Given the description of an element on the screen output the (x, y) to click on. 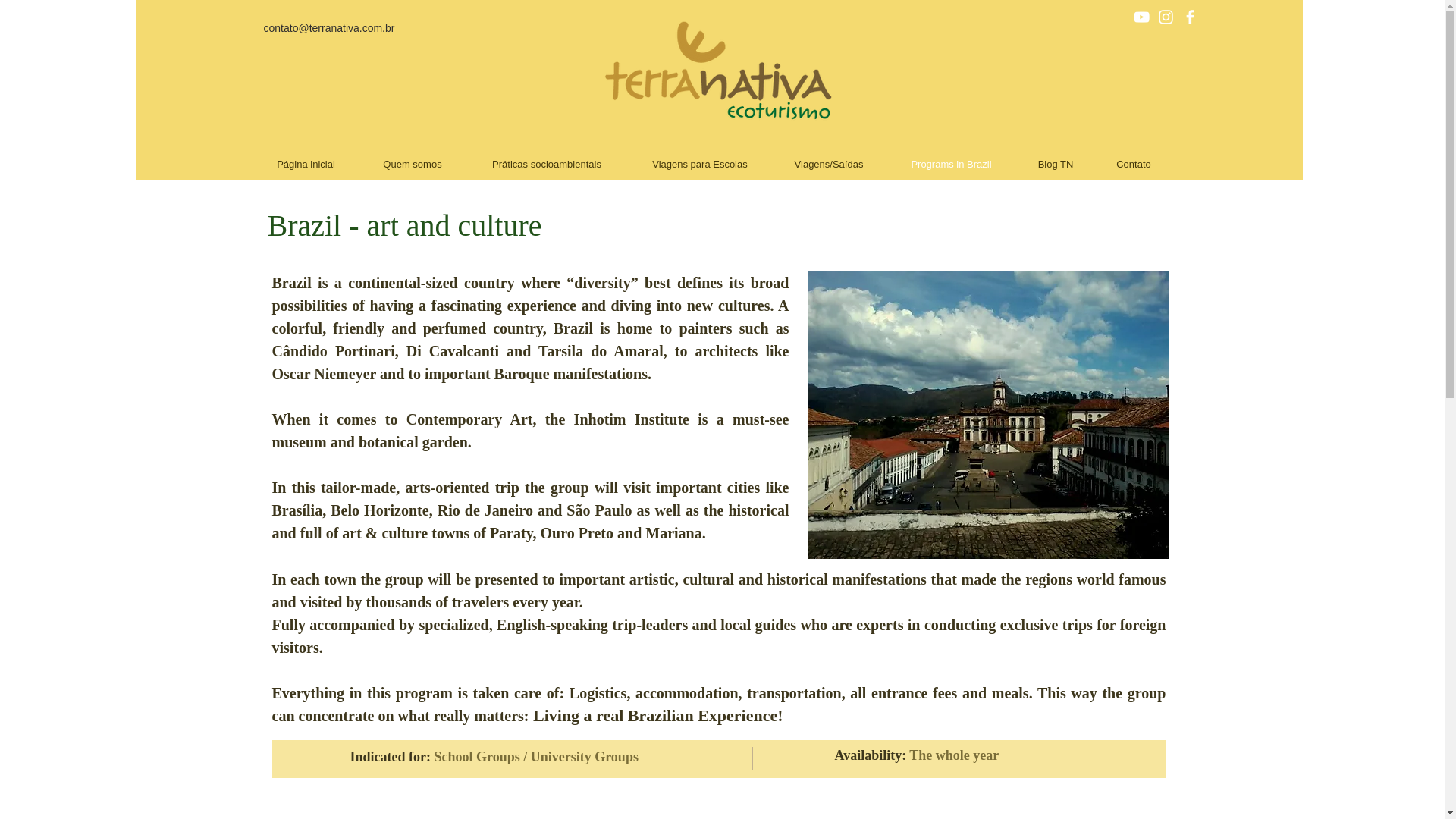
Quem somos (411, 163)
Programs in Brazil (950, 163)
Viagens para Escolas (699, 163)
Contato (1133, 163)
Blog TN (1055, 163)
